Given the description of an element on the screen output the (x, y) to click on. 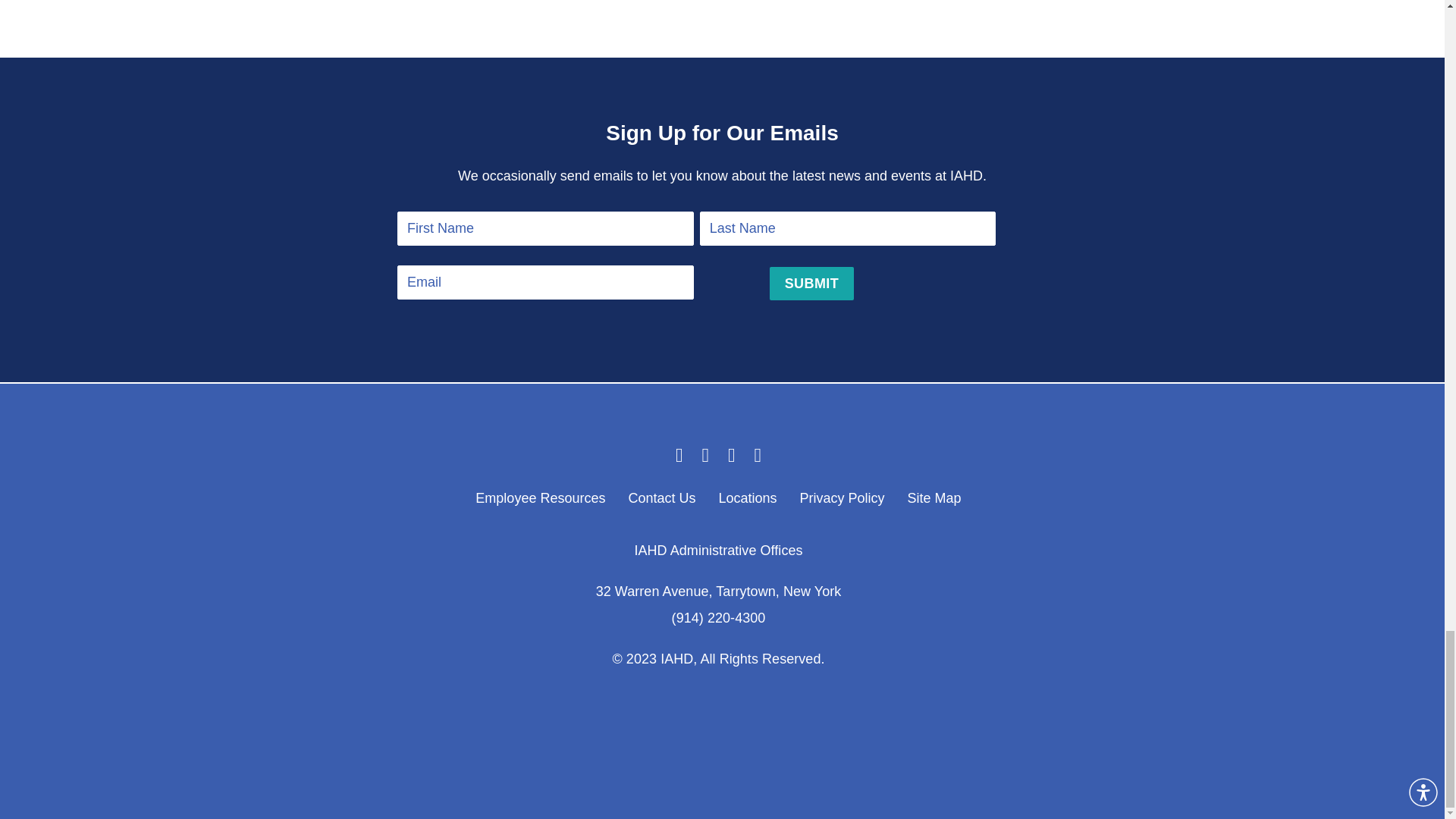
Submit (811, 283)
